Given the description of an element on the screen output the (x, y) to click on. 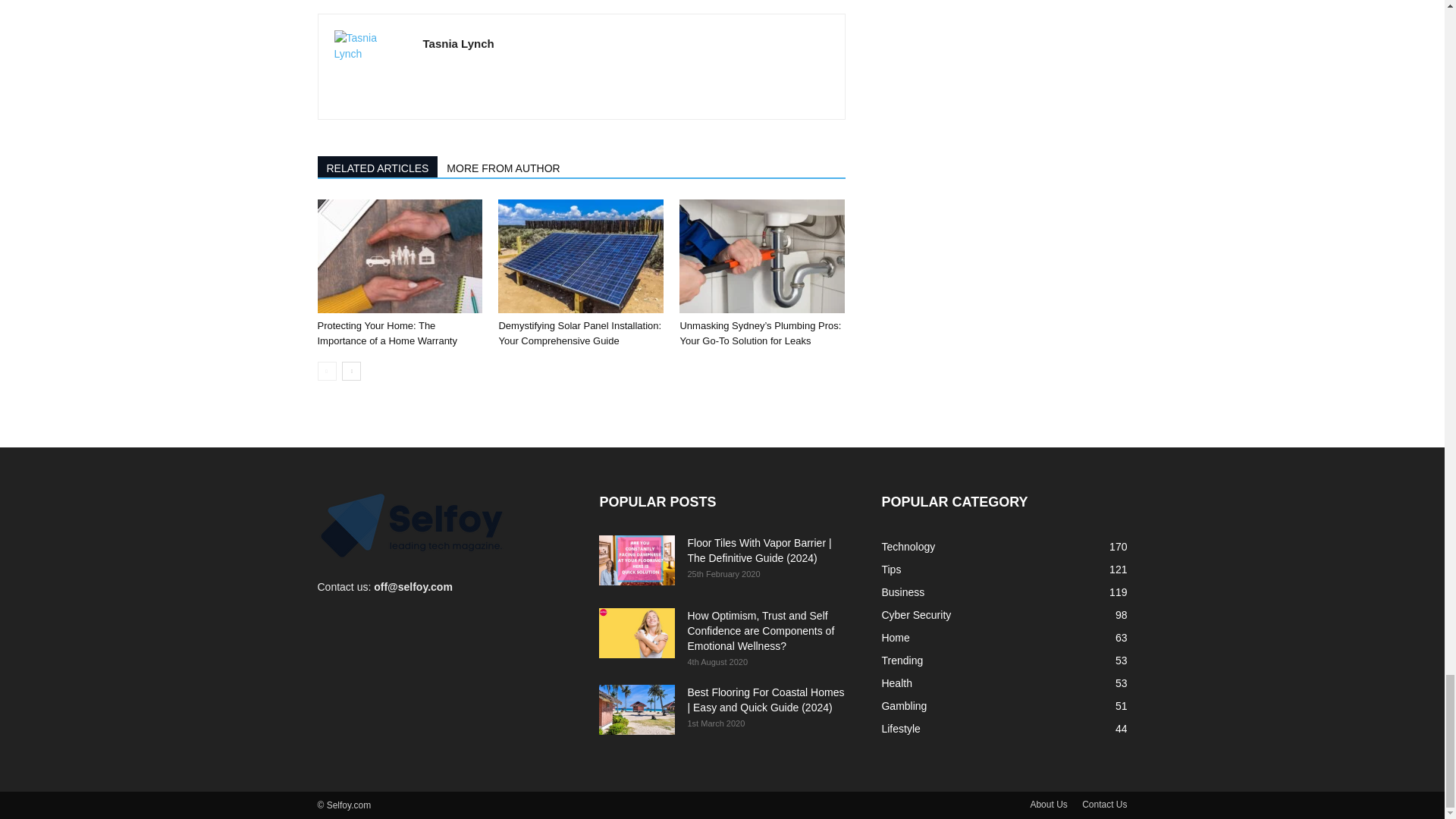
Protecting Your Home: The Importance of a Home Warranty (387, 333)
Protecting Your Home: The Importance of a Home Warranty (399, 255)
